Given the description of an element on the screen output the (x, y) to click on. 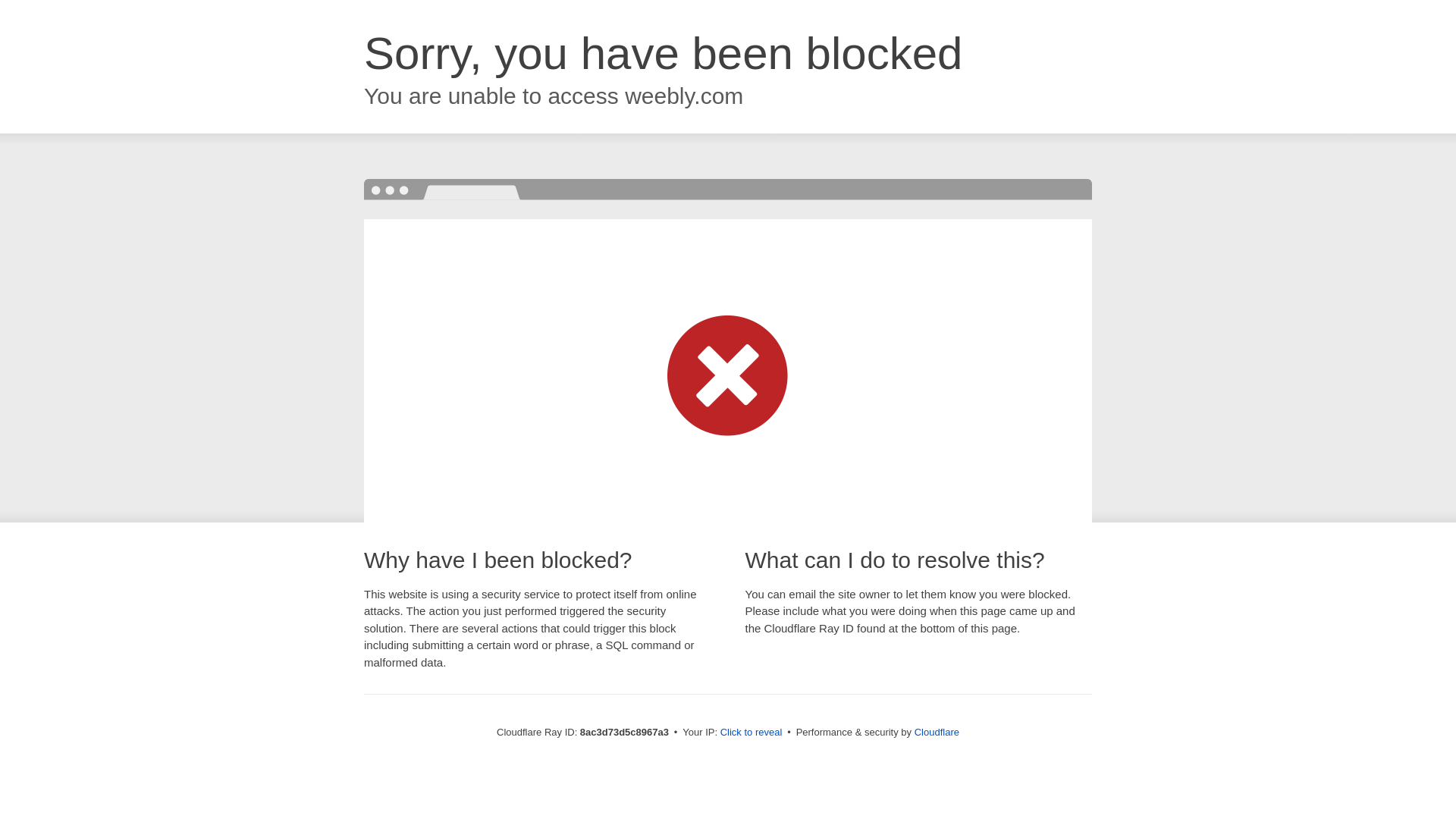
Cloudflare (936, 731)
Click to reveal (751, 732)
